Given the description of an element on the screen output the (x, y) to click on. 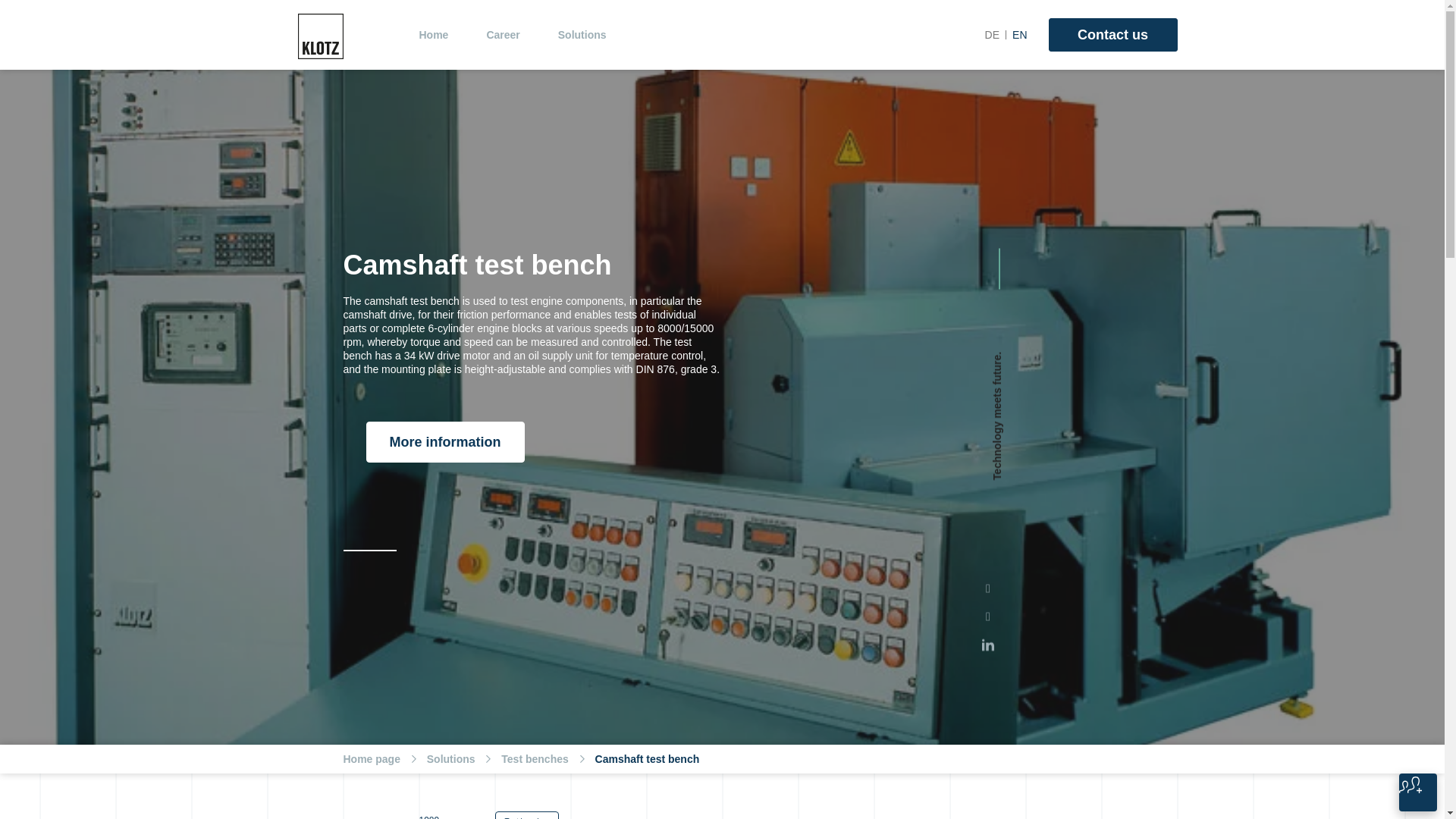
Job advertisements (1418, 792)
Contact us (1112, 34)
Solutions (582, 34)
Career (502, 34)
